Given the description of an element on the screen output the (x, y) to click on. 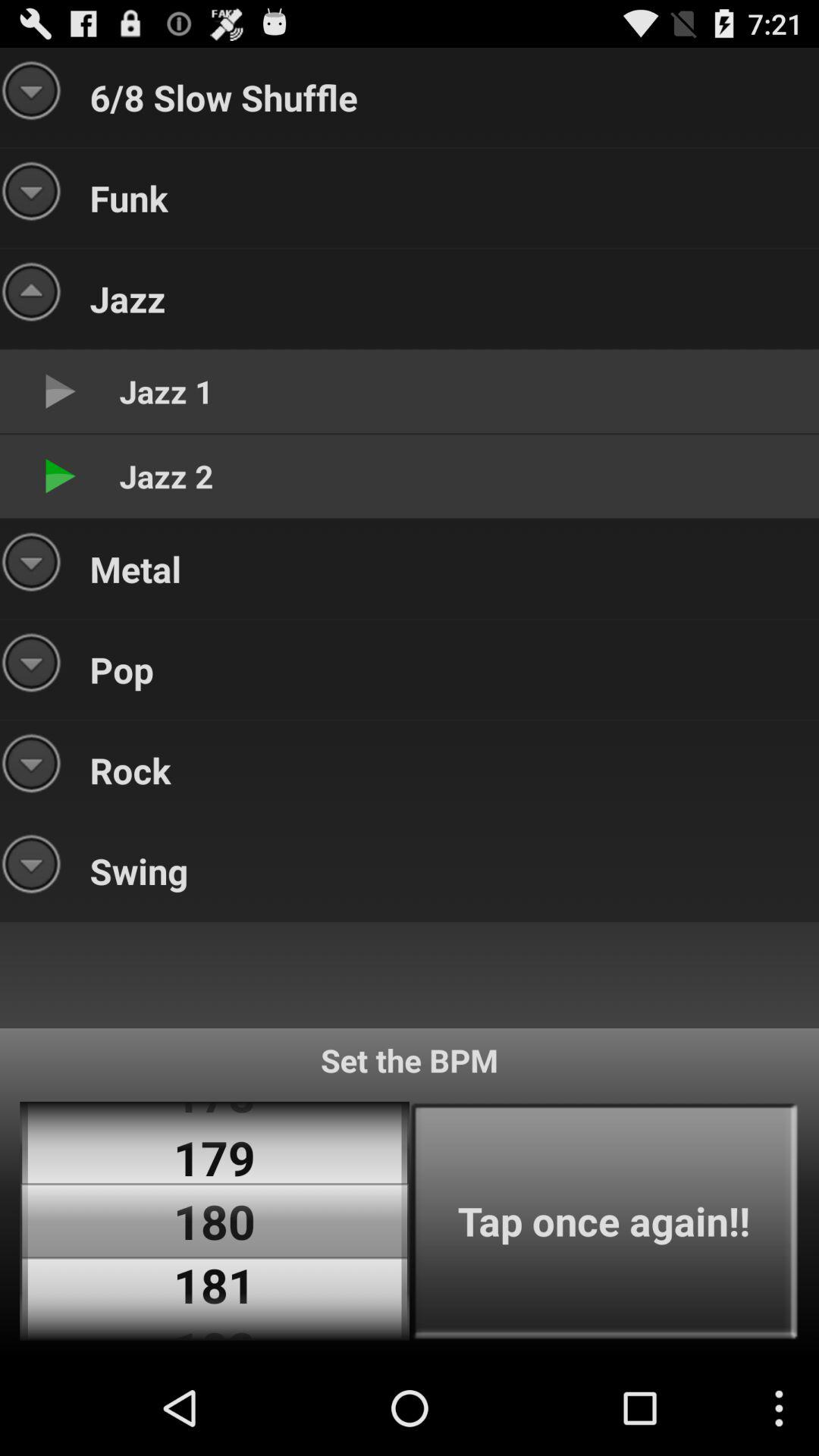
click on tap once again icon (604, 1221)
